Given the description of an element on the screen output the (x, y) to click on. 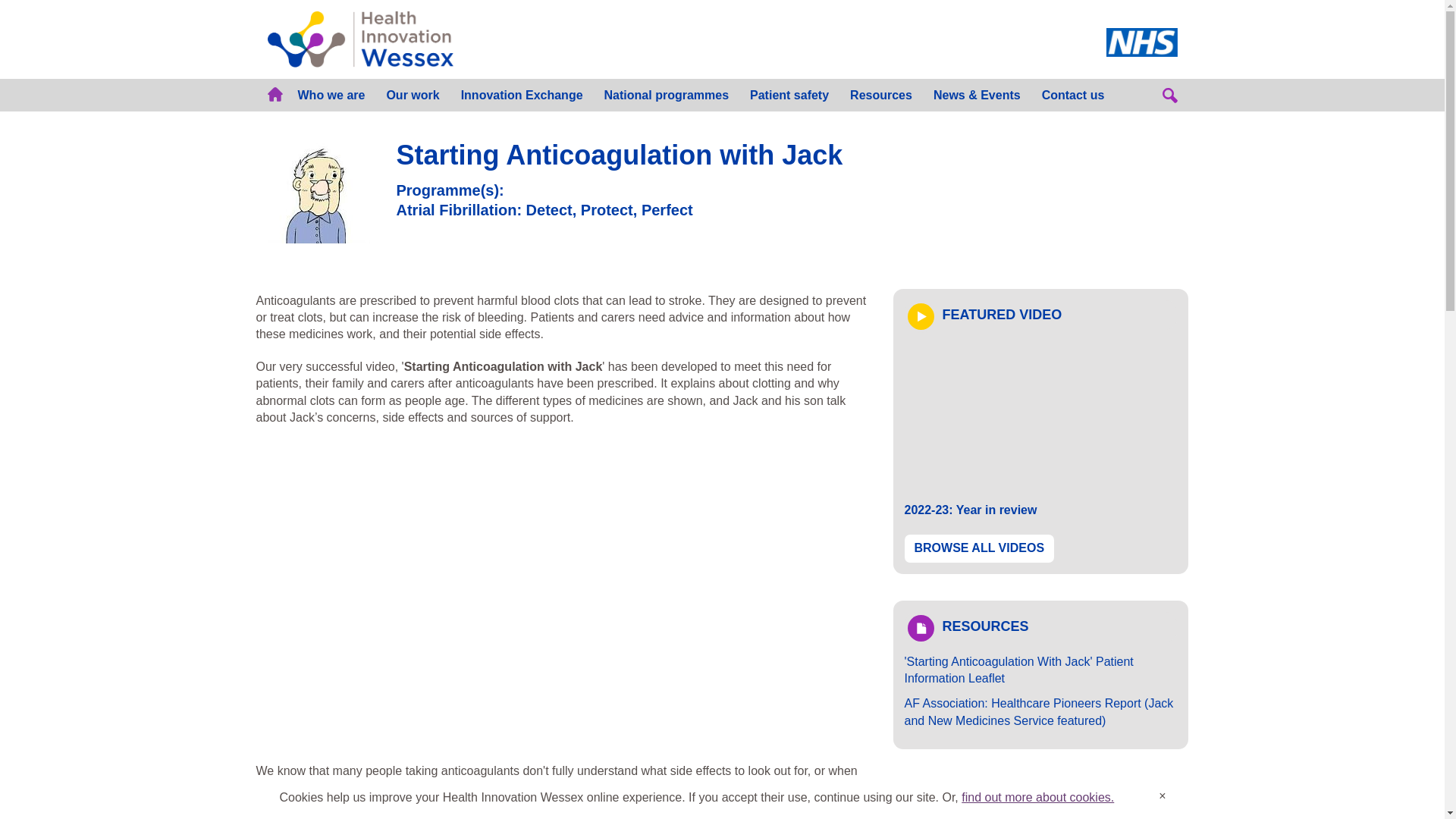
Who we are (331, 94)
Our work (412, 94)
Innovation Exchange (522, 94)
